Given the description of an element on the screen output the (x, y) to click on. 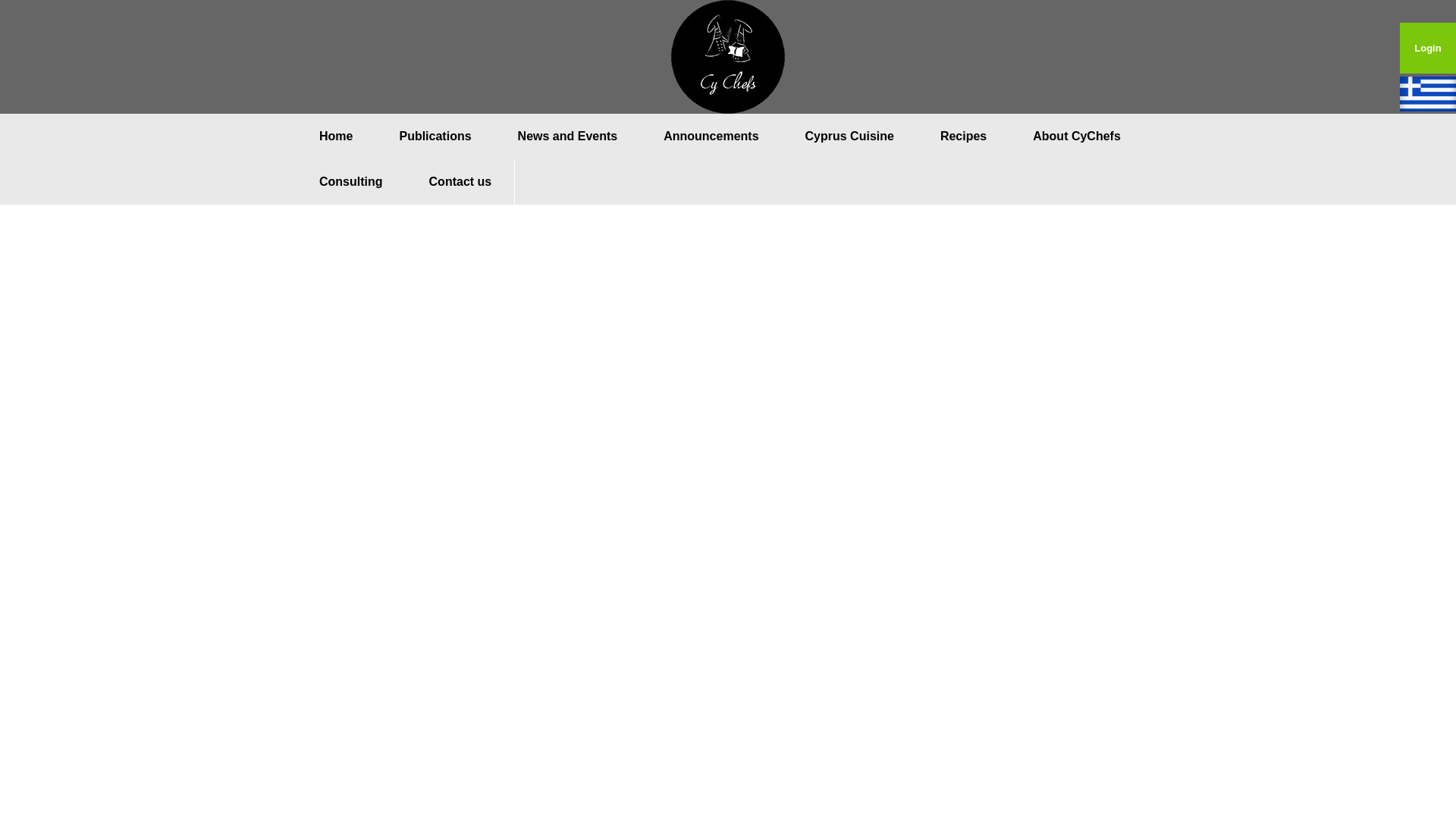
Recipes (963, 135)
About CyChefs (1075, 135)
Announcements (710, 135)
Cyprus Cuisine (849, 135)
Home (335, 135)
News and Events (567, 135)
Publications (434, 135)
